Given the description of an element on the screen output the (x, y) to click on. 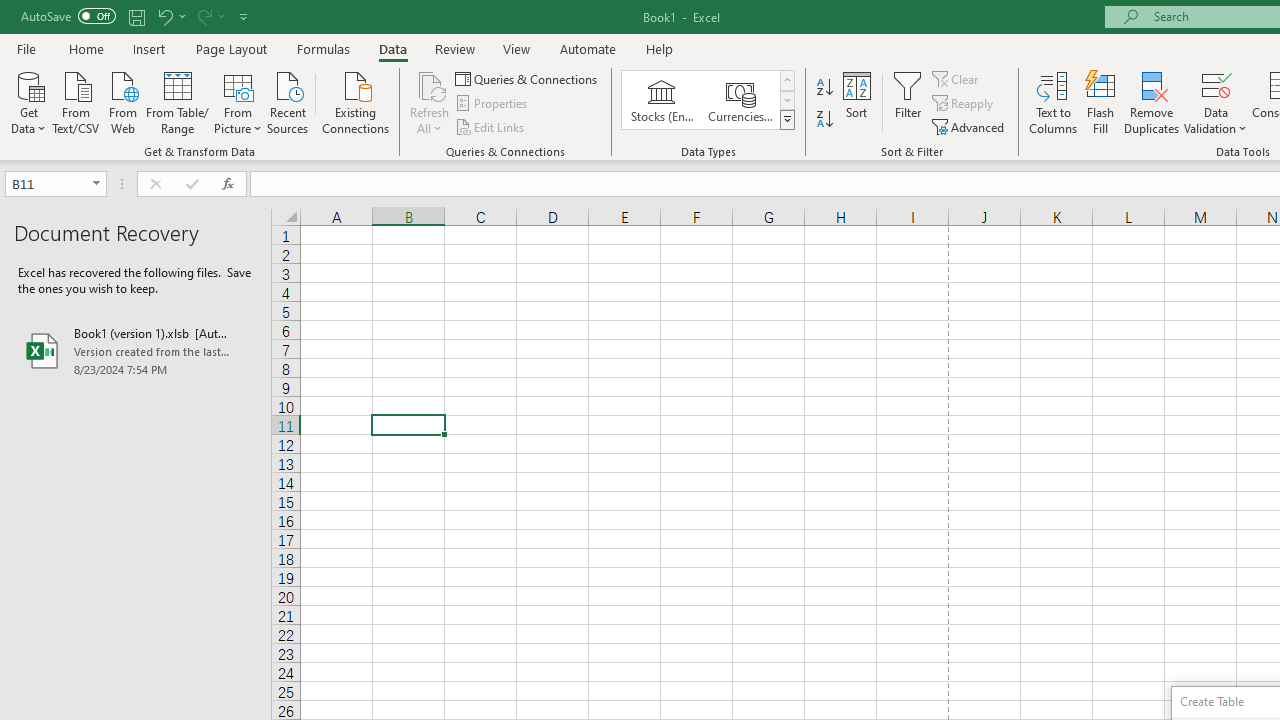
Row up (786, 79)
Sort... (856, 102)
AutomationID: ConvertToLinkedEntity (708, 99)
Existing Connections (355, 101)
Queries & Connections (527, 78)
